Given the description of an element on the screen output the (x, y) to click on. 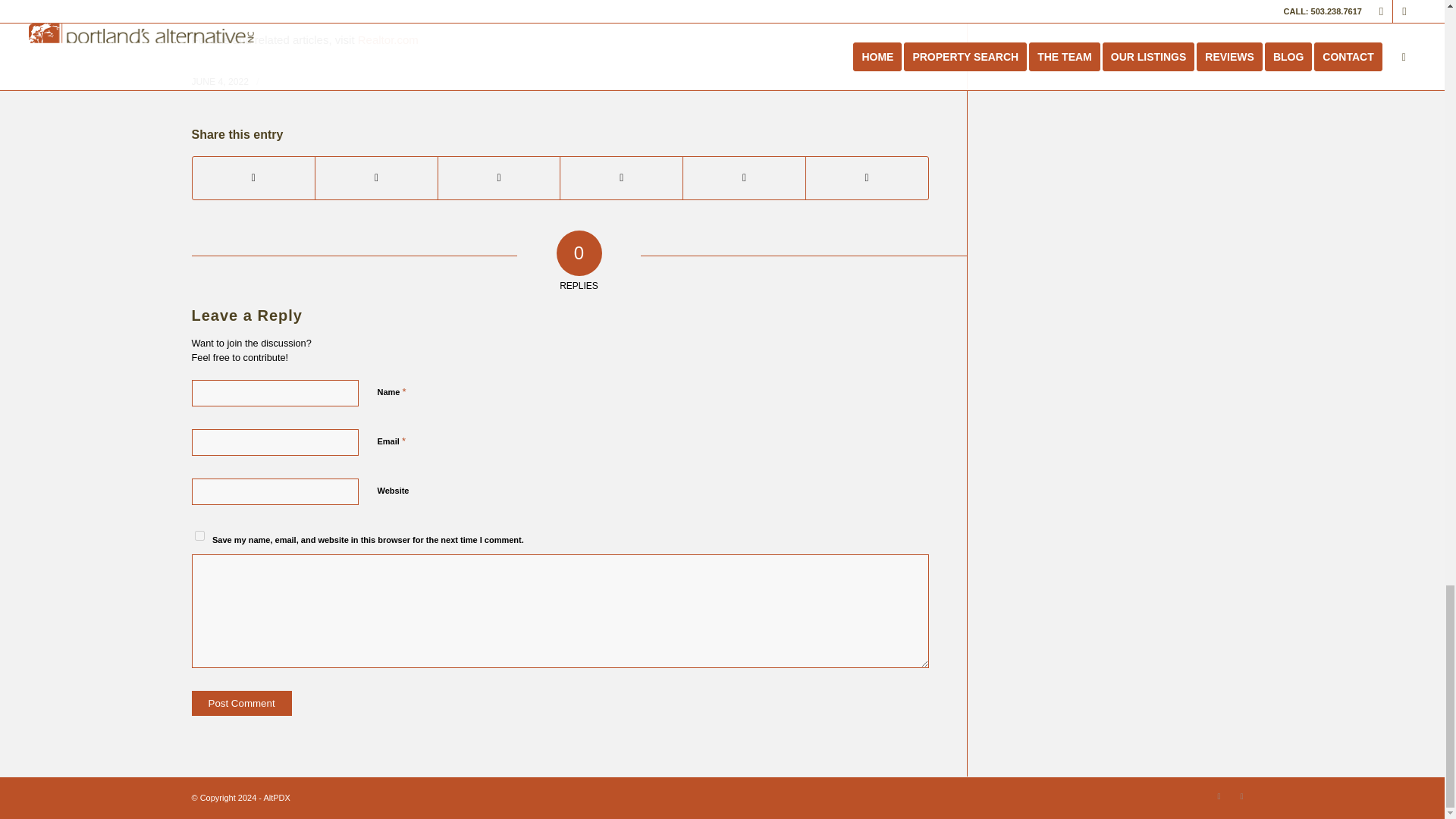
Post Comment (240, 703)
Post Comment (240, 703)
Realtor.com (388, 39)
yes (198, 535)
Facebook (1241, 795)
Instagram (1218, 795)
